Given the description of an element on the screen output the (x, y) to click on. 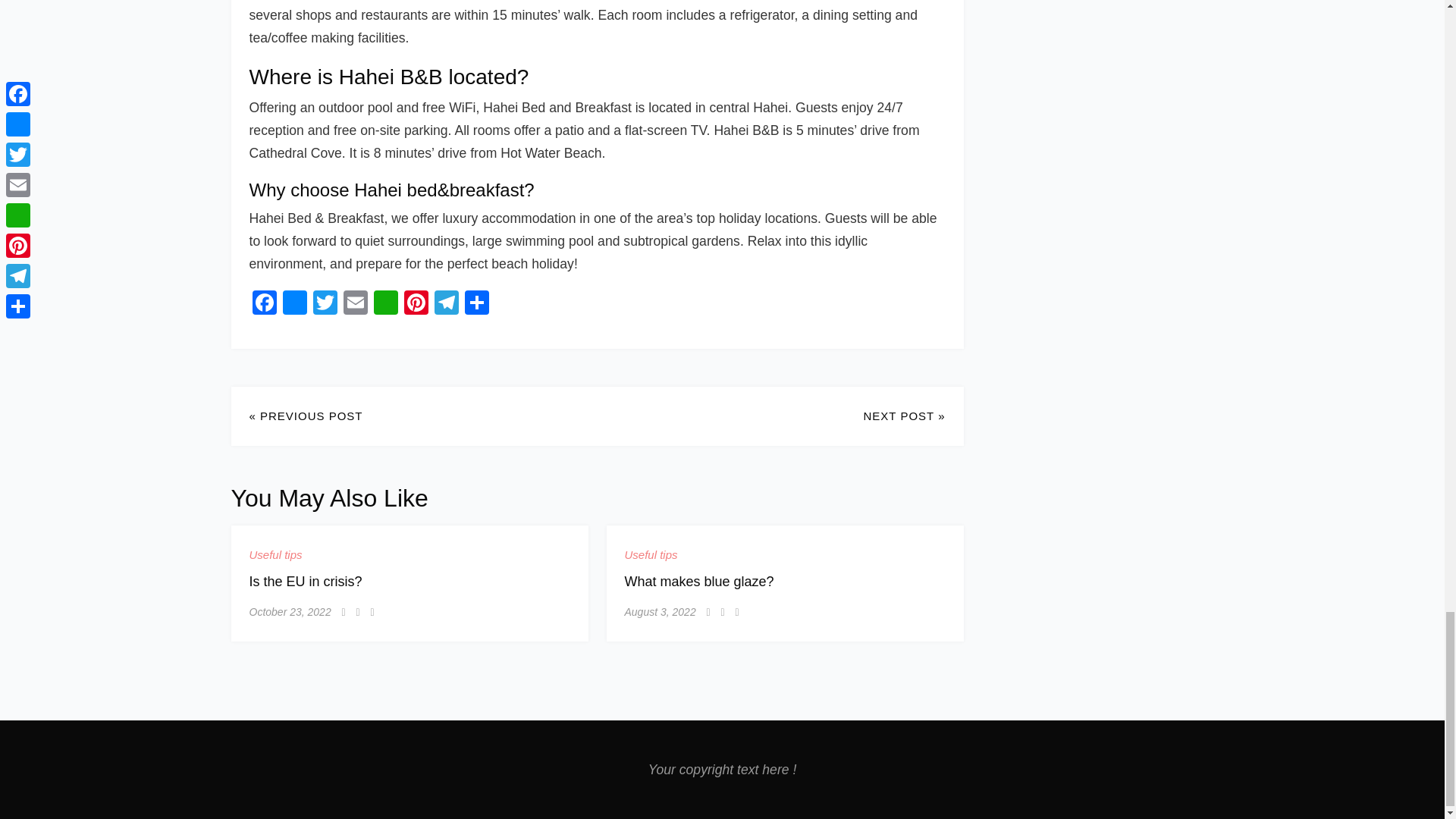
Pinterest (415, 304)
Pinterest (415, 304)
WhatsApp (384, 304)
Twitter (323, 304)
Email (354, 304)
Messenger (293, 304)
Telegram (445, 304)
Twitter (323, 304)
Facebook (263, 304)
Email (354, 304)
